Given the description of an element on the screen output the (x, y) to click on. 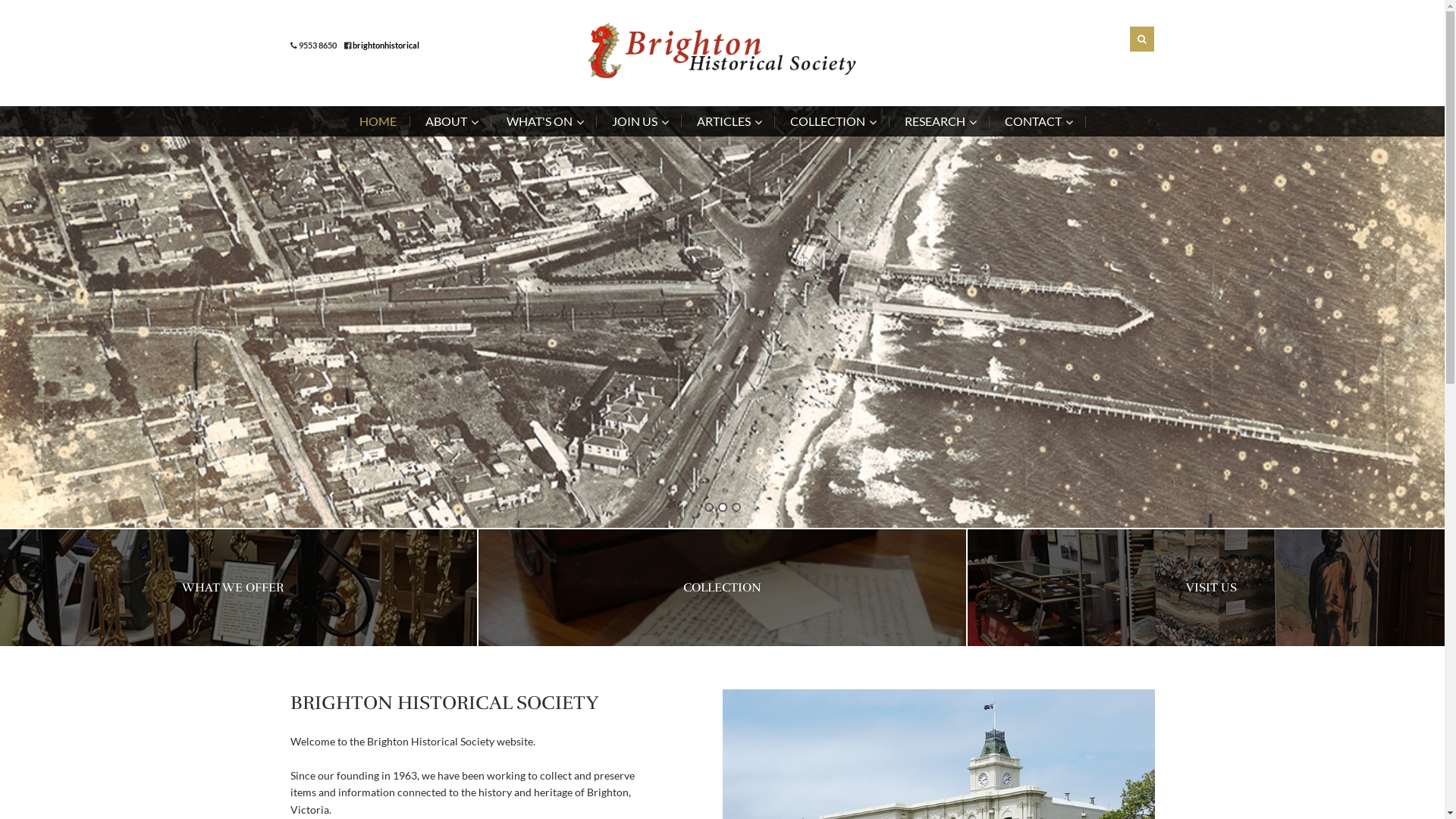
brightonhistorical Element type: text (384, 45)
JOIN US Element type: text (638, 121)
ARTICLES Element type: text (727, 121)
Brighton Historical Society Element type: hover (721, 50)
VISIT US Element type: text (1211, 587)
ABOUT Element type: text (449, 121)
2 Element type: text (721, 506)
HOME Element type: text (384, 121)
RESEARCH Element type: text (938, 121)
WHAT WE OFFER Element type: text (233, 587)
COLLECTION Element type: text (832, 121)
3 Element type: text (735, 506)
COLLECTION Element type: text (722, 587)
CONTACT Element type: text (1036, 121)
WHAT'S ON Element type: text (543, 121)
1 Element type: text (707, 506)
